Given the description of an element on the screen output the (x, y) to click on. 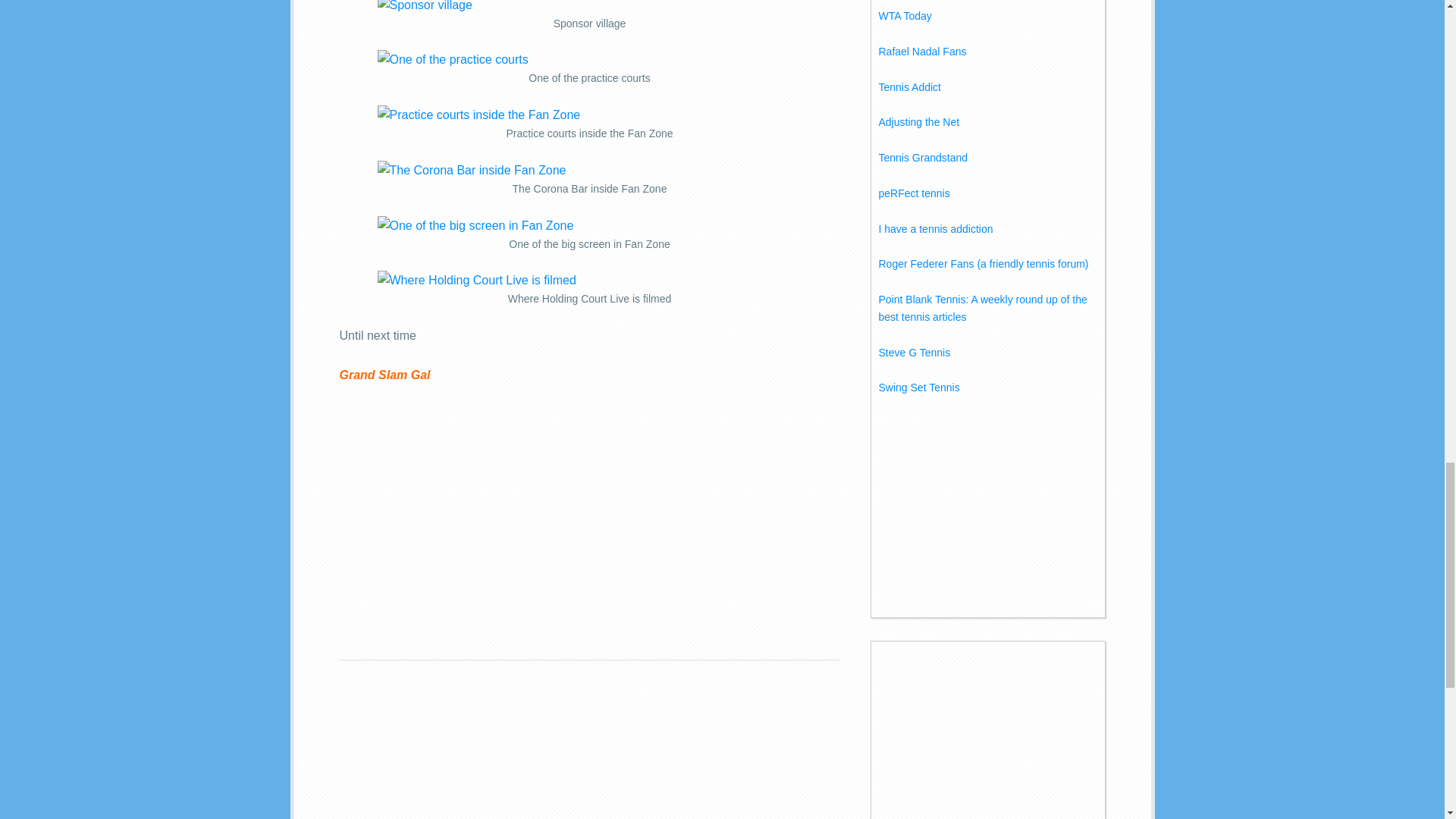
Rafael Nadal Fans (921, 51)
Tennis Addict (908, 86)
WTA Today (904, 15)
